Given the description of an element on the screen output the (x, y) to click on. 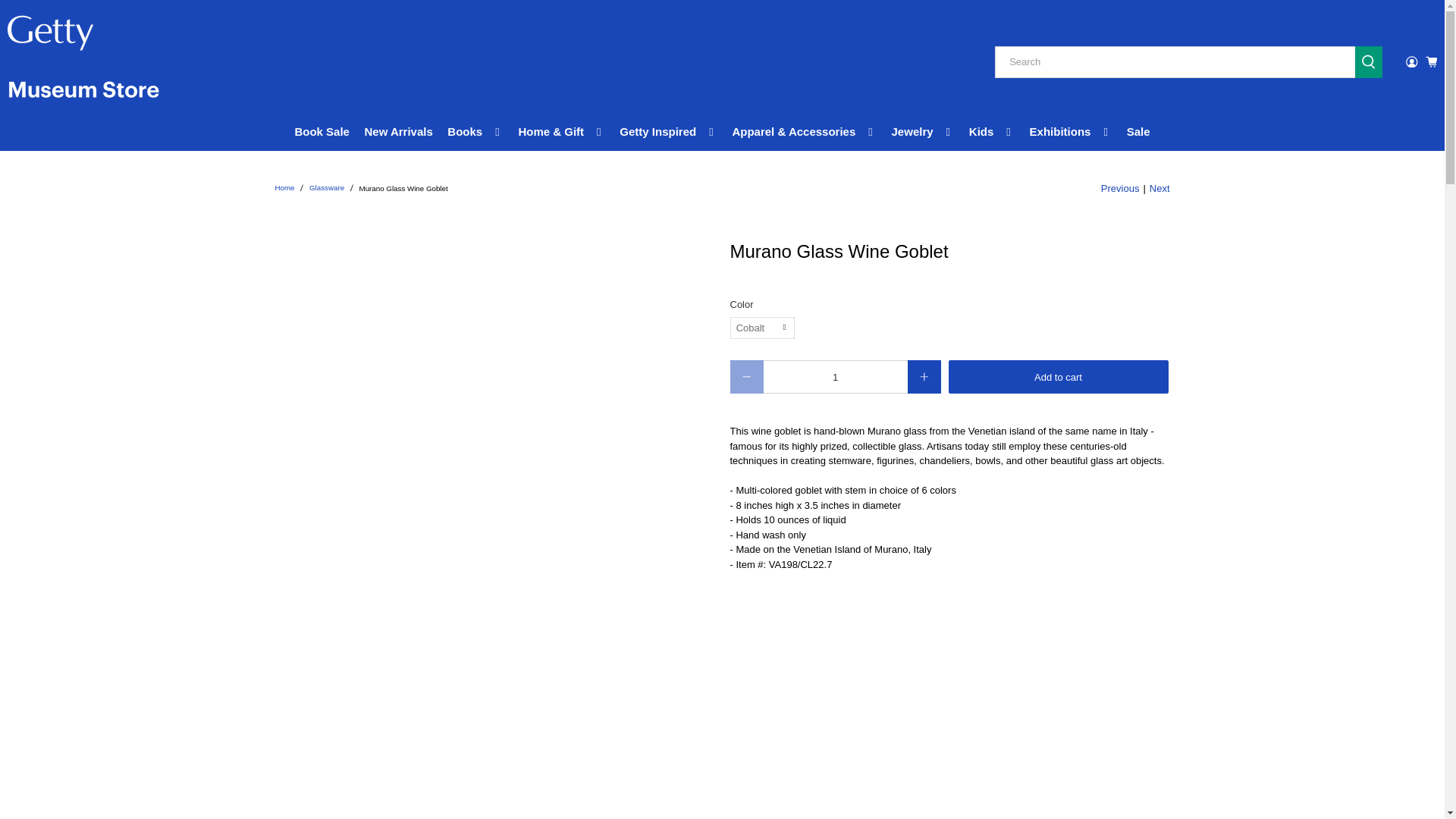
Next (1160, 187)
Getty Museum Store (284, 187)
Books (476, 131)
Book Sale (321, 131)
Previous (1120, 187)
New Arrivals (398, 131)
Getty Museum Store (82, 61)
Glassware (325, 187)
Getty Inspired (668, 131)
1 (834, 376)
